Given the description of an element on the screen output the (x, y) to click on. 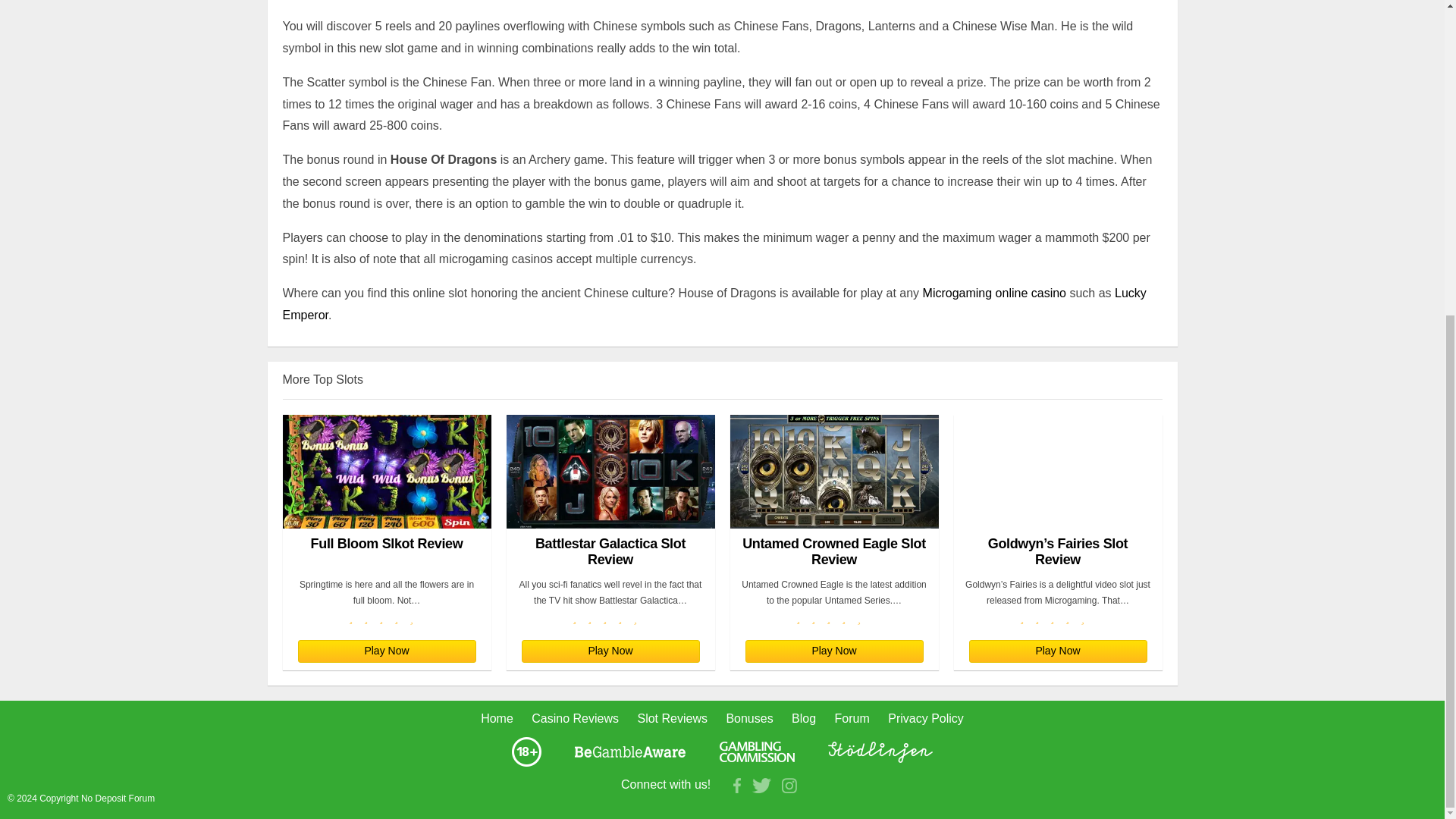
Play Now (1058, 650)
Play Now (610, 650)
Slot Reviews (671, 717)
Bonuses (749, 717)
Lucky Emperor (713, 303)
Home (496, 717)
Blog (803, 717)
Microgaming online casino (994, 292)
Play Now (833, 650)
Microgaming online casino (994, 292)
Forum (851, 717)
Full Bloom Slkot Review (386, 491)
Casino Reviews (574, 717)
Untamed Crowned Eagle Slot Review (833, 491)
Lucky Emperor (713, 303)
